Given the description of an element on the screen output the (x, y) to click on. 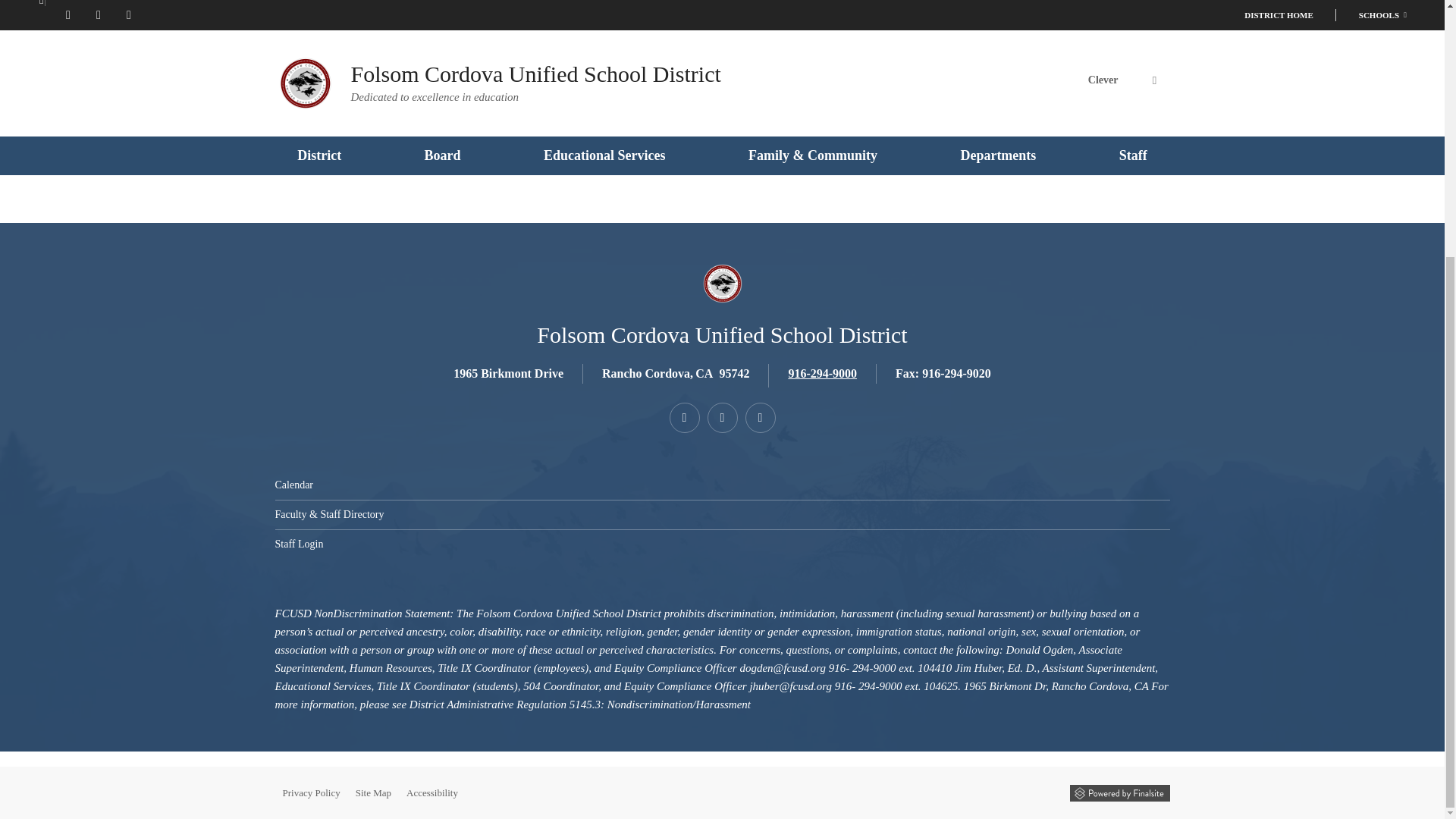
Powered by Finalsite opens in a new window (1118, 792)
